Given the description of an element on the screen output the (x, y) to click on. 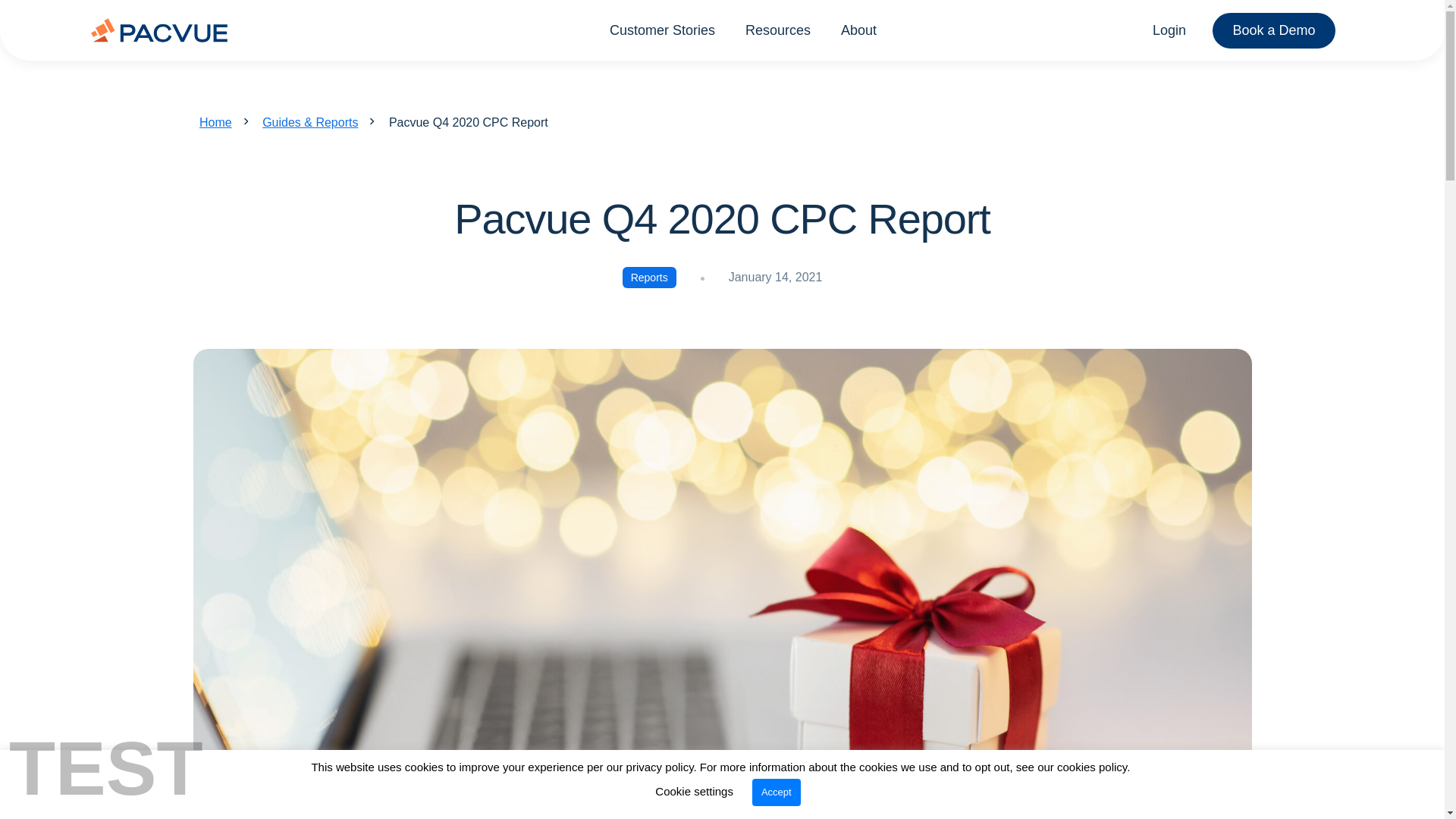
Accept (776, 791)
privacy policy (660, 766)
About (858, 29)
Cookie settings (694, 790)
Customer Stories (662, 29)
Resources (777, 29)
our cookies policy (1081, 766)
